Given the description of an element on the screen output the (x, y) to click on. 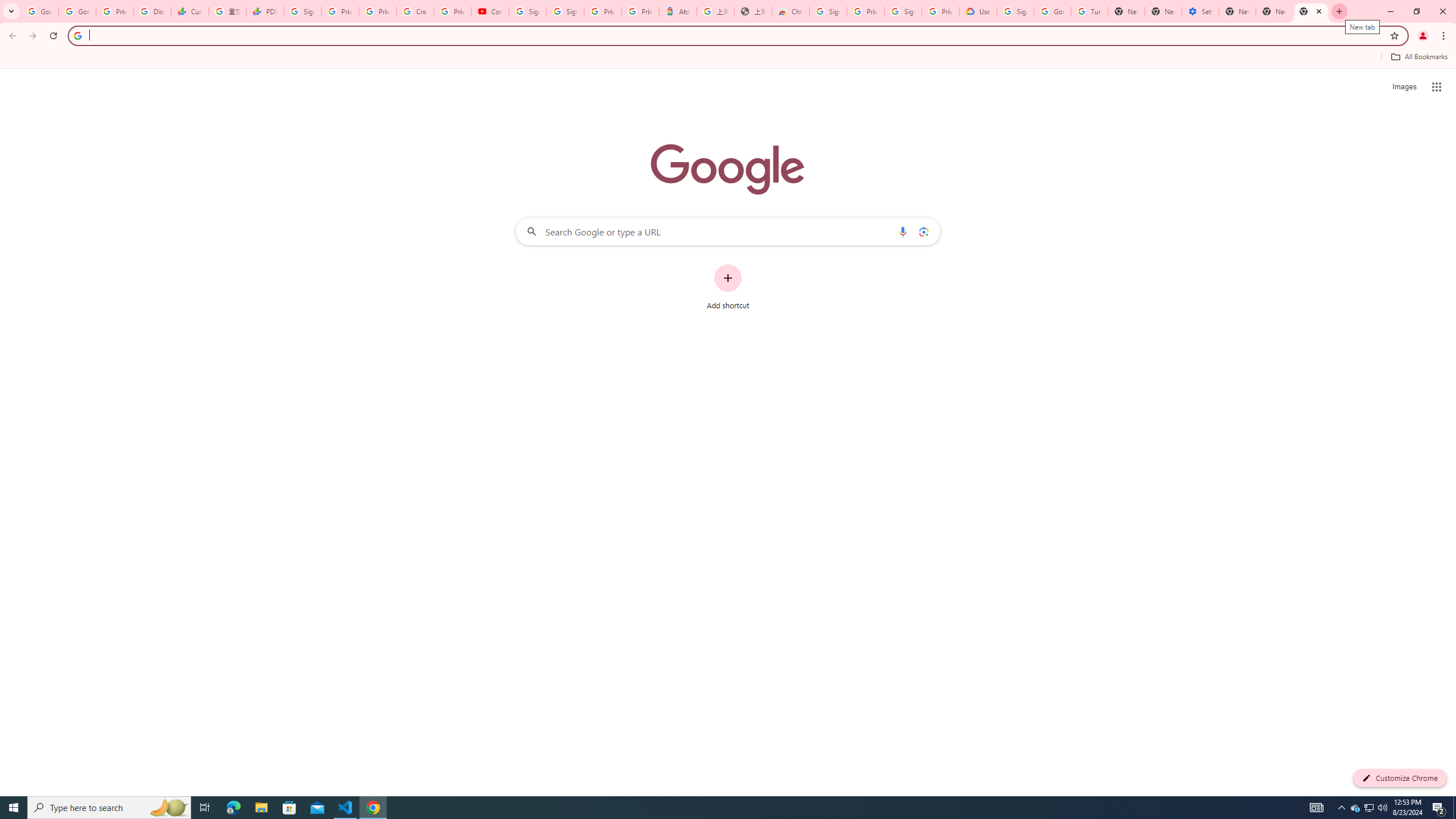
Sign in - Google Accounts (827, 11)
Currencies - Google Finance (189, 11)
Settings - System (1200, 11)
Chrome Web Store - Color themes by Chrome (790, 11)
Add shortcut (727, 287)
New Tab (1311, 11)
Customize Chrome (1399, 778)
PDD Holdings Inc - ADR (PDD) Price & News - Google Finance (264, 11)
